Given the description of an element on the screen output the (x, y) to click on. 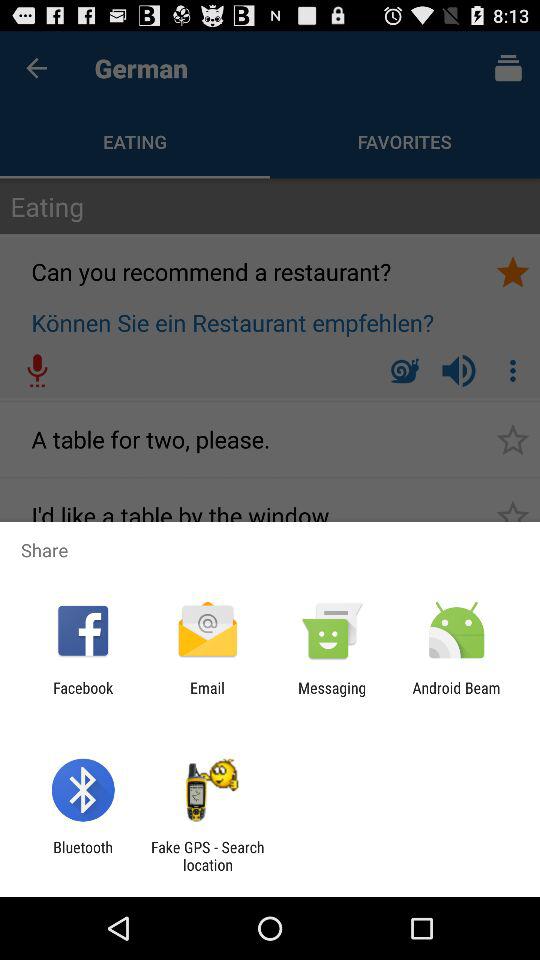
turn off icon next to facebook app (207, 696)
